Given the description of an element on the screen output the (x, y) to click on. 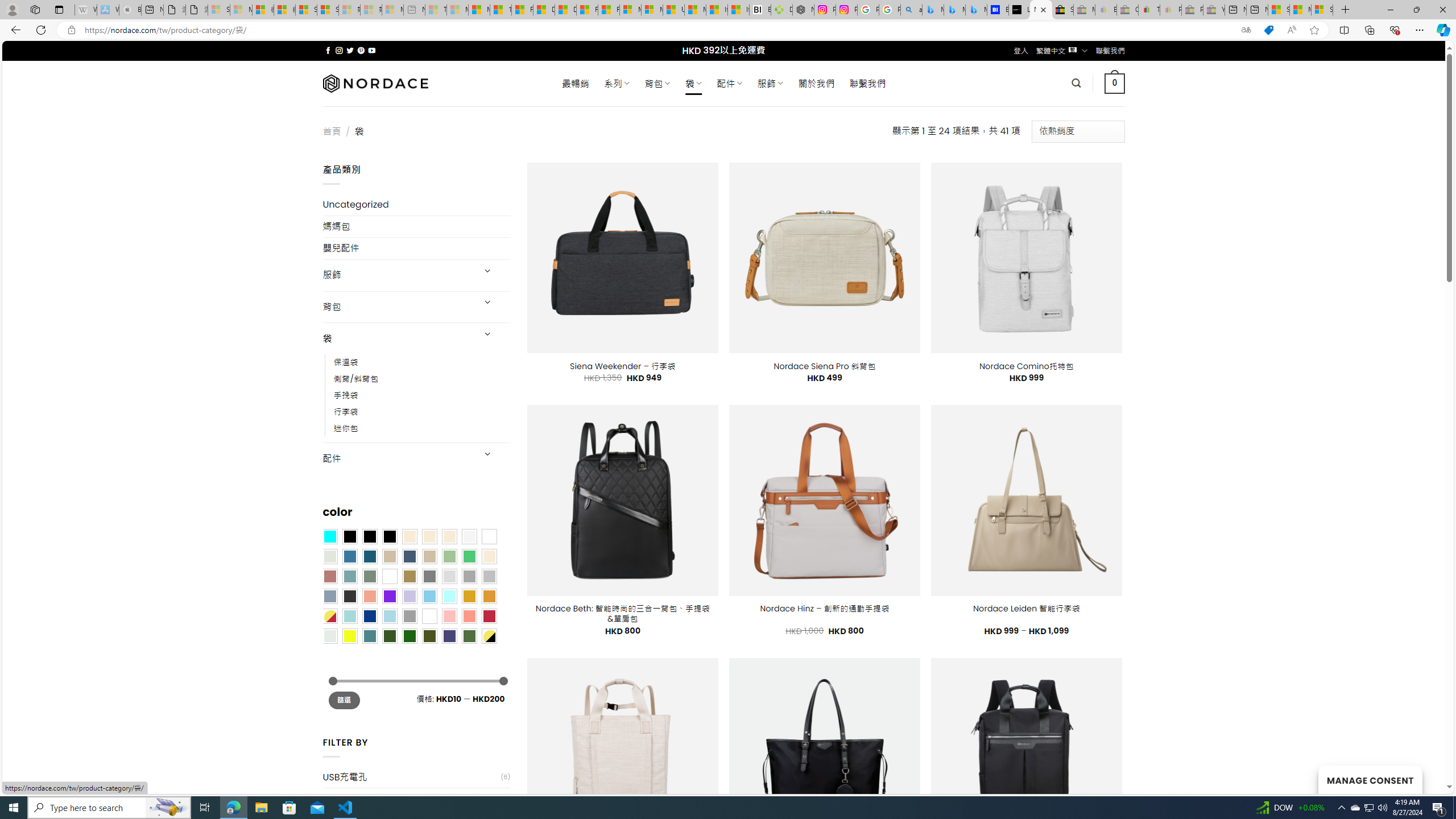
Microsoft Services Agreement - Sleeping (241, 9)
 0  (1115, 83)
